Given the description of an element on the screen output the (x, y) to click on. 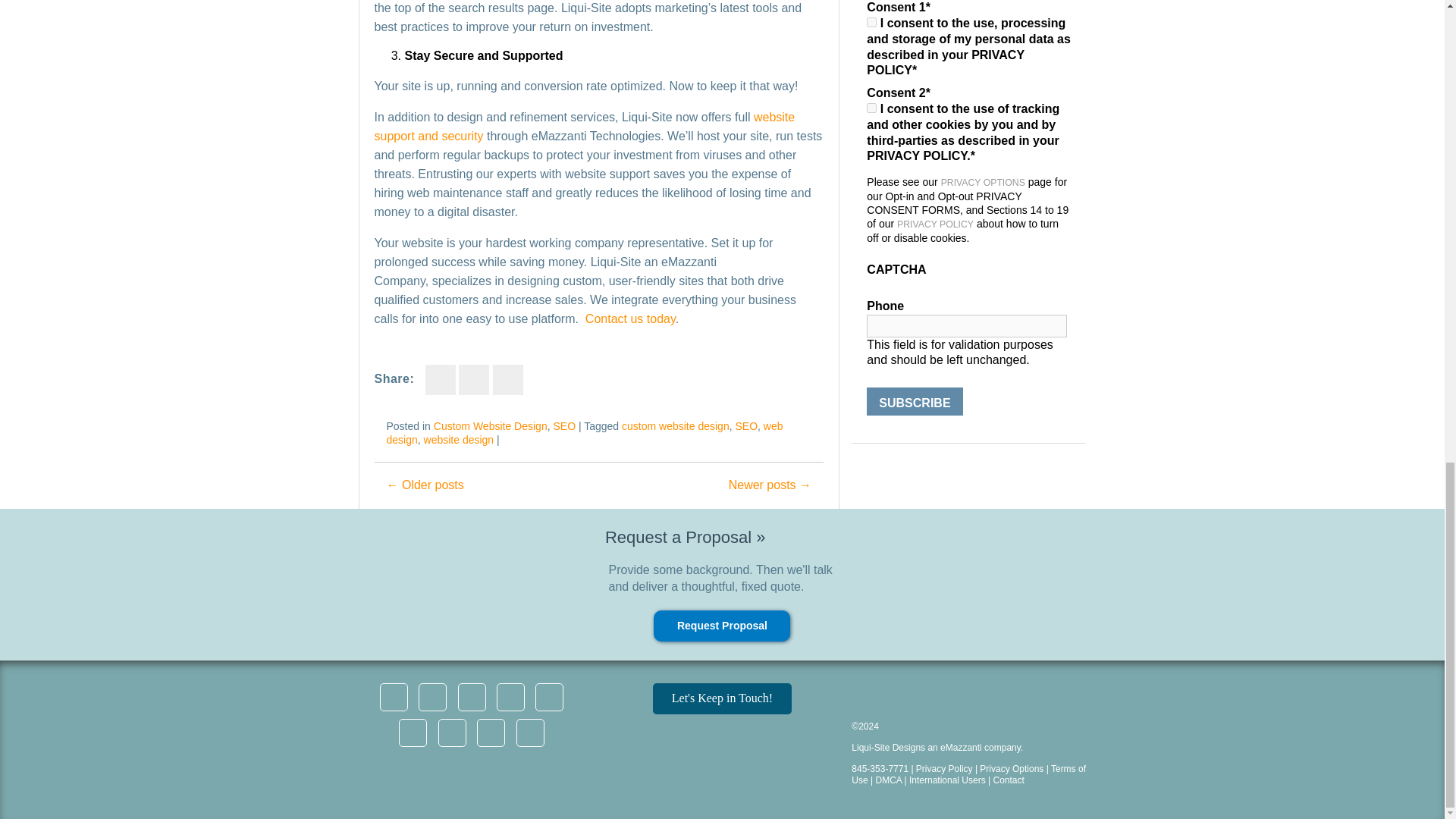
BBB Accredited Business (892, 698)
web design (585, 432)
SEO (564, 426)
Forbes Enterprise Awards (986, 698)
Custom Website Design (490, 426)
Share on Twitter (473, 379)
SUBSCRIBE (914, 401)
1 (871, 108)
1 (871, 22)
Contact us today (630, 318)
Share on Facebook (440, 379)
website support and security (584, 126)
SEO (746, 426)
custom website design (675, 426)
